Given the description of an element on the screen output the (x, y) to click on. 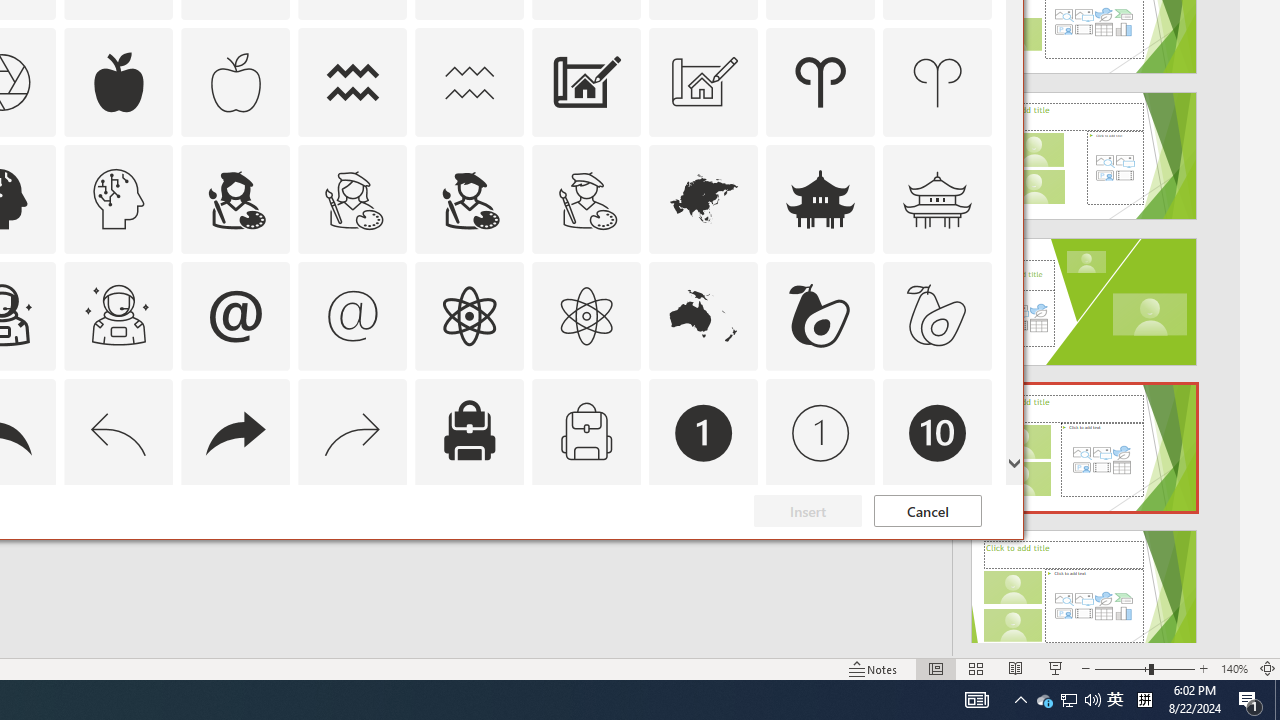
AutomationID: Icons_Badge7 (353, 550)
AutomationID: Icons_Aries (820, 82)
AutomationID: Icons_Atom_M (586, 316)
AutomationID: Icons_Aquarius_M (469, 82)
AutomationID: Icons_At (235, 316)
AutomationID: Icons_Avocado_M (938, 316)
AutomationID: Icons_Atom (469, 316)
